Given the description of an element on the screen output the (x, y) to click on. 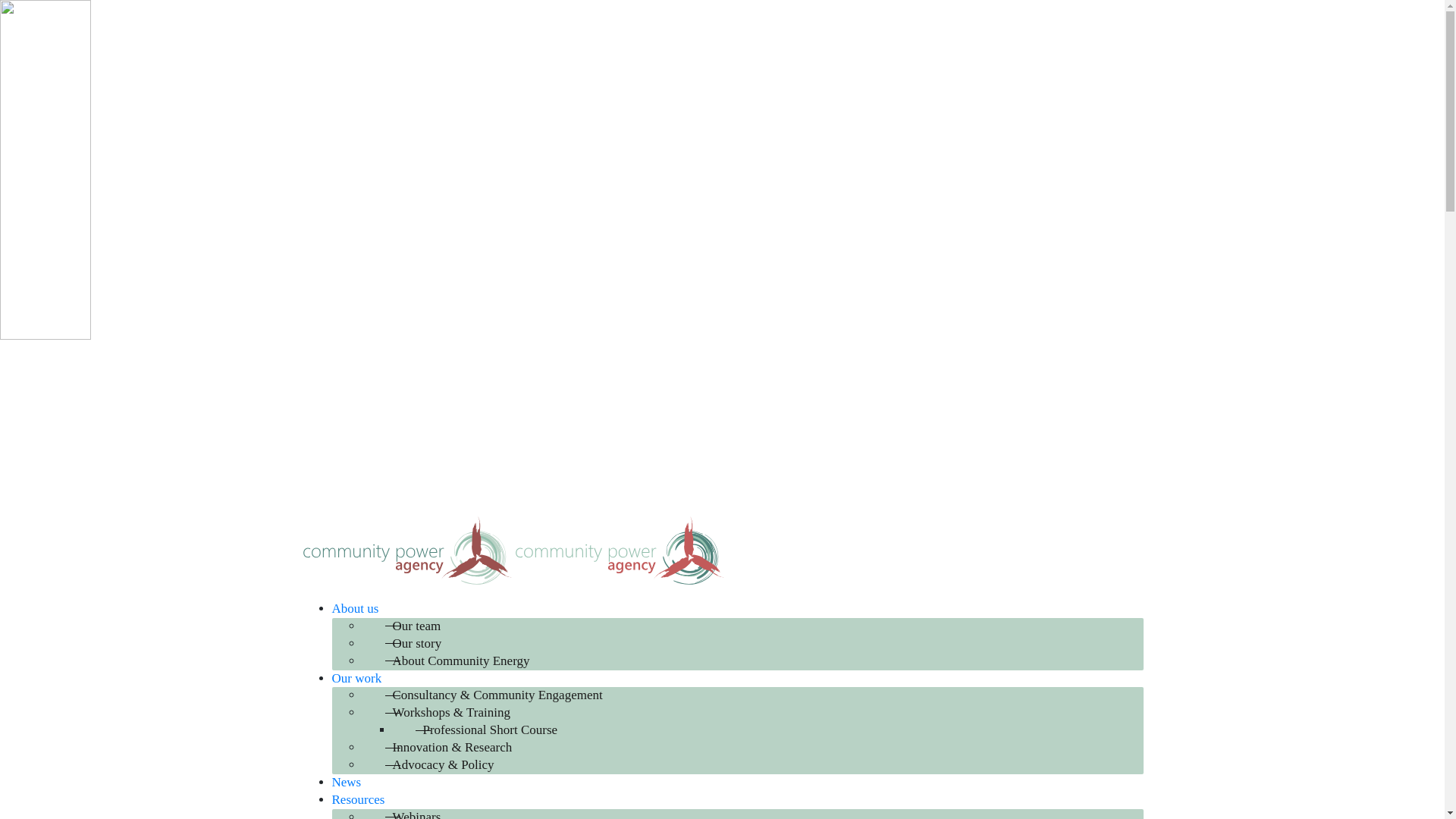
Professional Short Course Element type: text (783, 730)
About Community Energy Element type: text (767, 661)
Workshops & Training Element type: text (767, 712)
Innovation & Research Element type: text (767, 747)
Our work Element type: text (357, 677)
Consultancy & Community Engagement Element type: text (767, 695)
News Element type: text (346, 782)
Advocacy & Policy Element type: text (767, 765)
Our team Element type: text (767, 626)
Resources Element type: text (358, 799)
About us Element type: text (355, 608)
Our story Element type: text (767, 643)
